Given the description of an element on the screen output the (x, y) to click on. 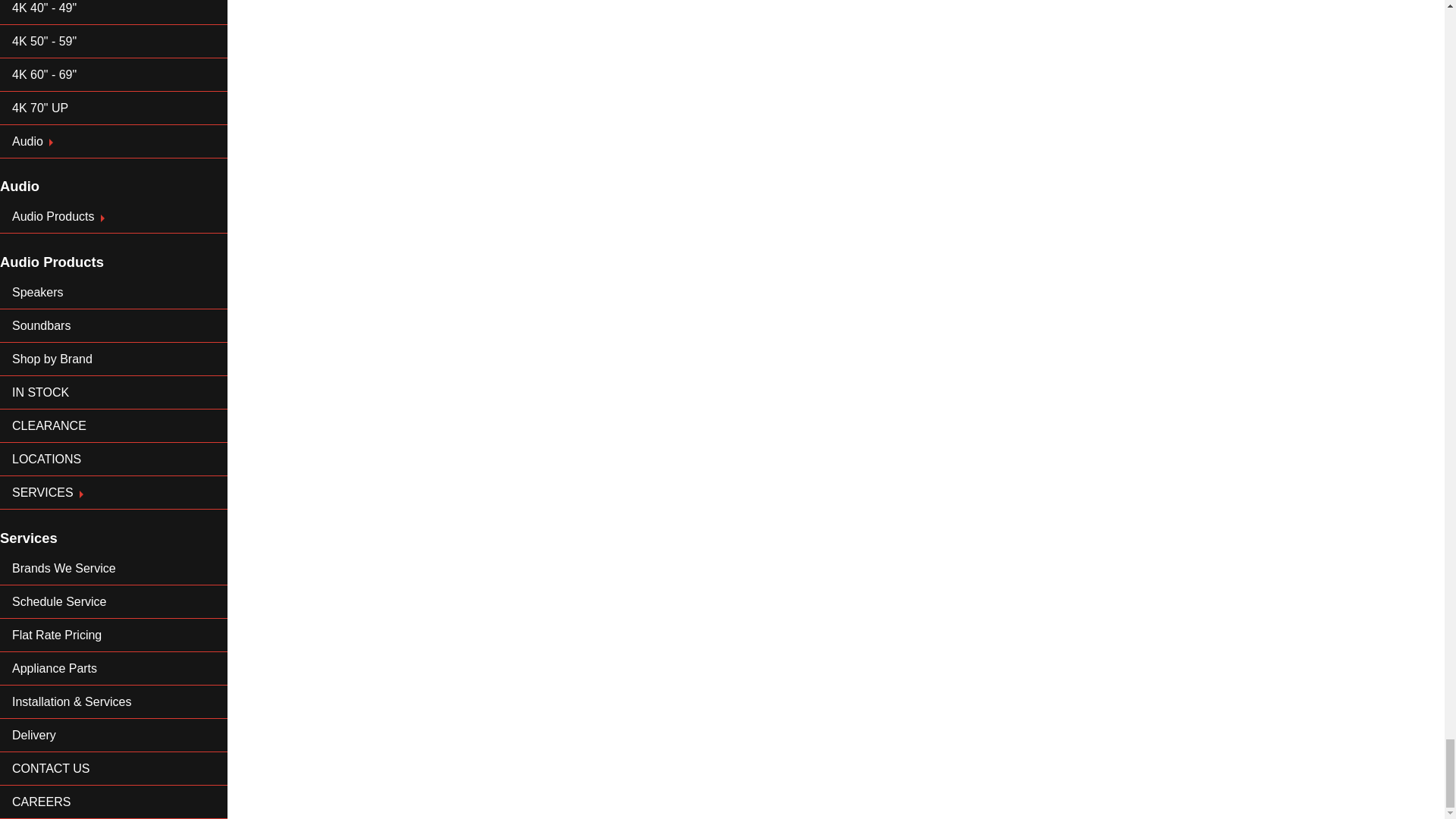
Brands We Service (113, 568)
Flat Rate Pricing (113, 635)
Schedule Service (113, 602)
